Given the description of an element on the screen output the (x, y) to click on. 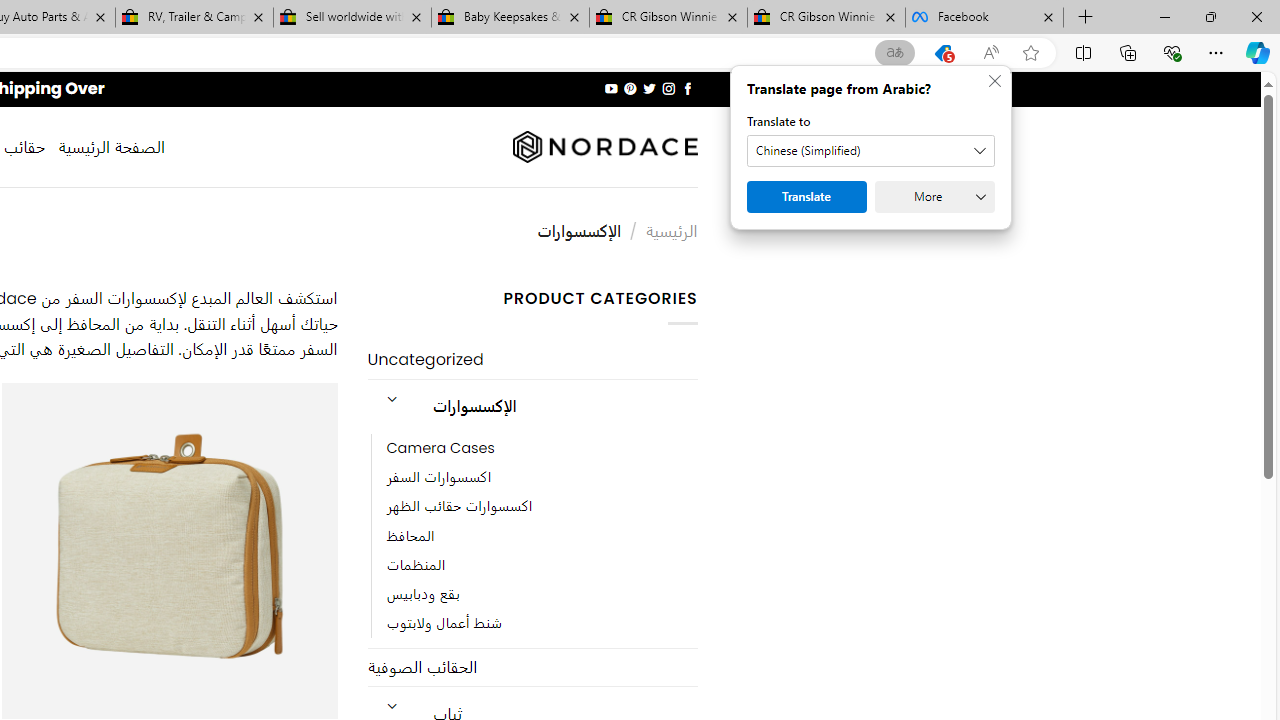
Translate (806, 196)
Sell worldwide with eBay (352, 17)
Uncategorized (532, 359)
Follow on YouTube (611, 88)
